Given the description of an element on the screen output the (x, y) to click on. 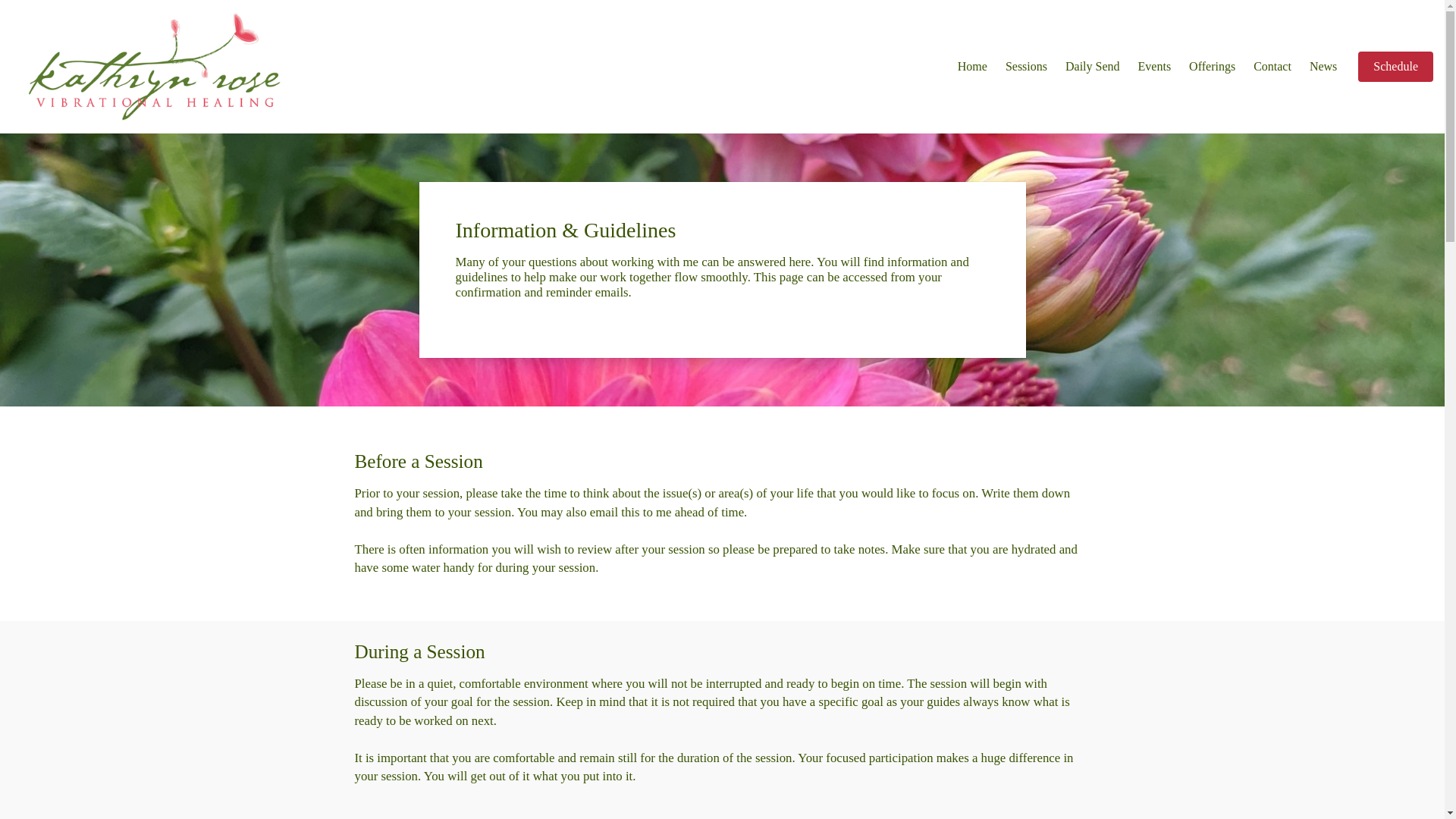
Home (972, 65)
Events (1155, 65)
Daily Send (1092, 65)
News (1322, 65)
Sessions (1026, 65)
Offerings (1211, 65)
Contact (1272, 65)
Schedule (1395, 66)
